Given the description of an element on the screen output the (x, y) to click on. 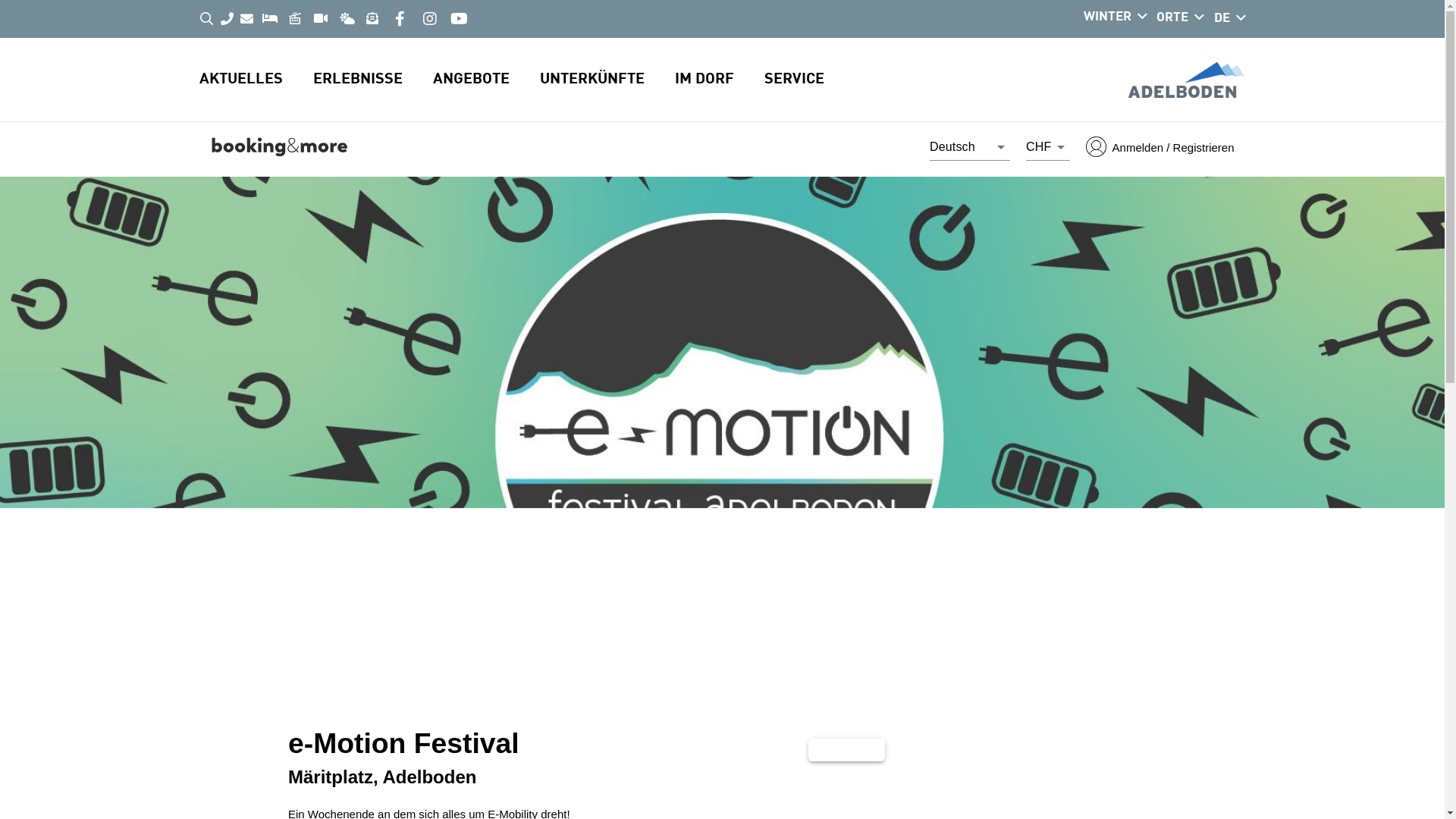
ANGEBOTE Element type: text (485, 79)
SERVICE Element type: text (809, 79)
Instagram Element type: hover (429, 18)
Betriebszeiten, Bergbahnen und Schneesportberichte Element type: hover (294, 18)
Newsletter Element type: hover (372, 18)
WINTER Element type: text (1114, 17)
AKTUELLES Element type: text (255, 79)
ERLEBNISSE Element type: text (372, 79)
ORTE Element type: text (1179, 18)
Wetter Element type: hover (347, 18)
Youtube Element type: hover (458, 18)
IM DORF Element type: text (719, 79)
DE Element type: text (1229, 18)
Webcams Element type: hover (321, 18)
Facebook Element type: hover (400, 18)
